Given the description of an element on the screen output the (x, y) to click on. 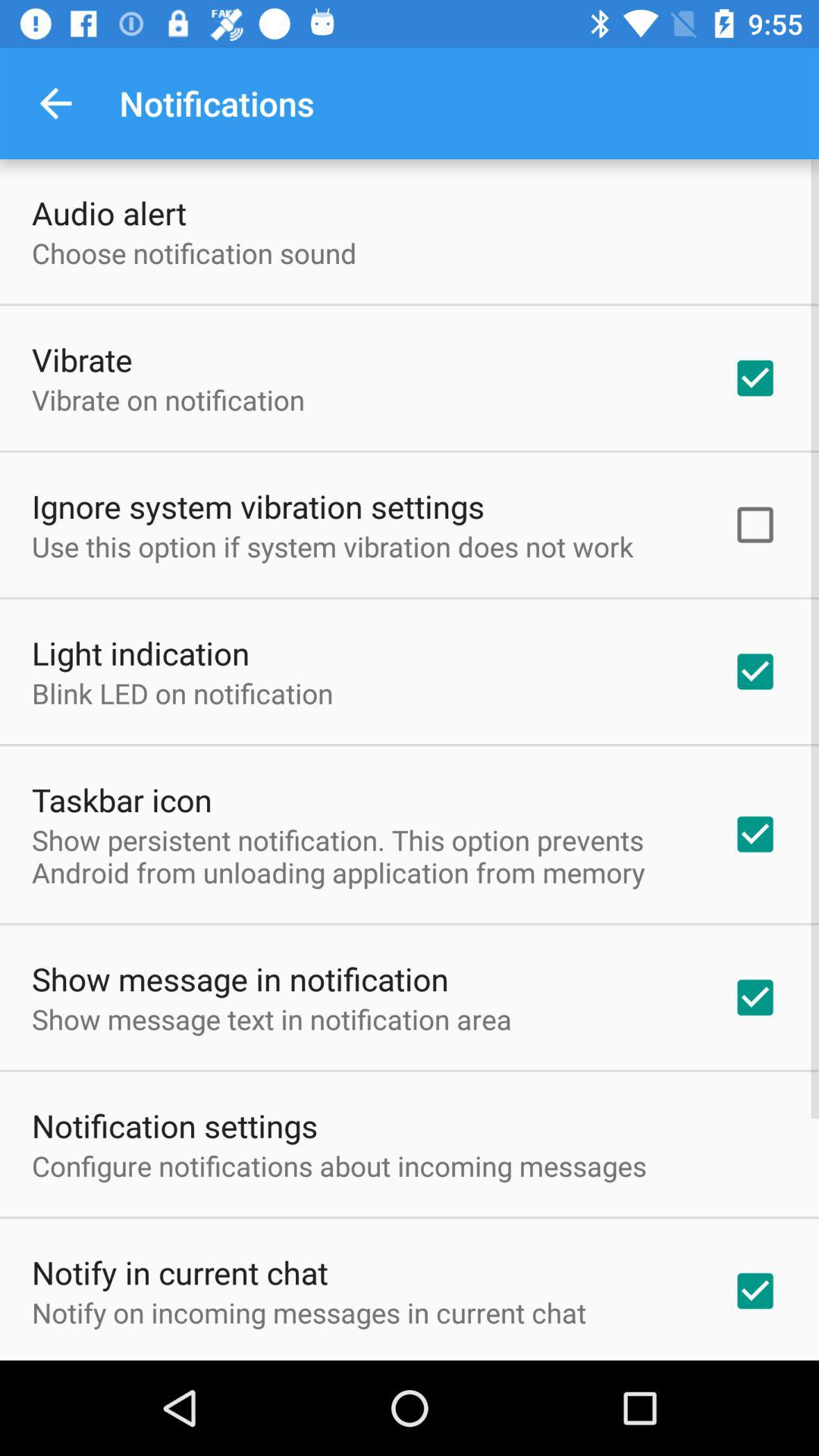
swipe to the notification settings item (174, 1125)
